Given the description of an element on the screen output the (x, y) to click on. 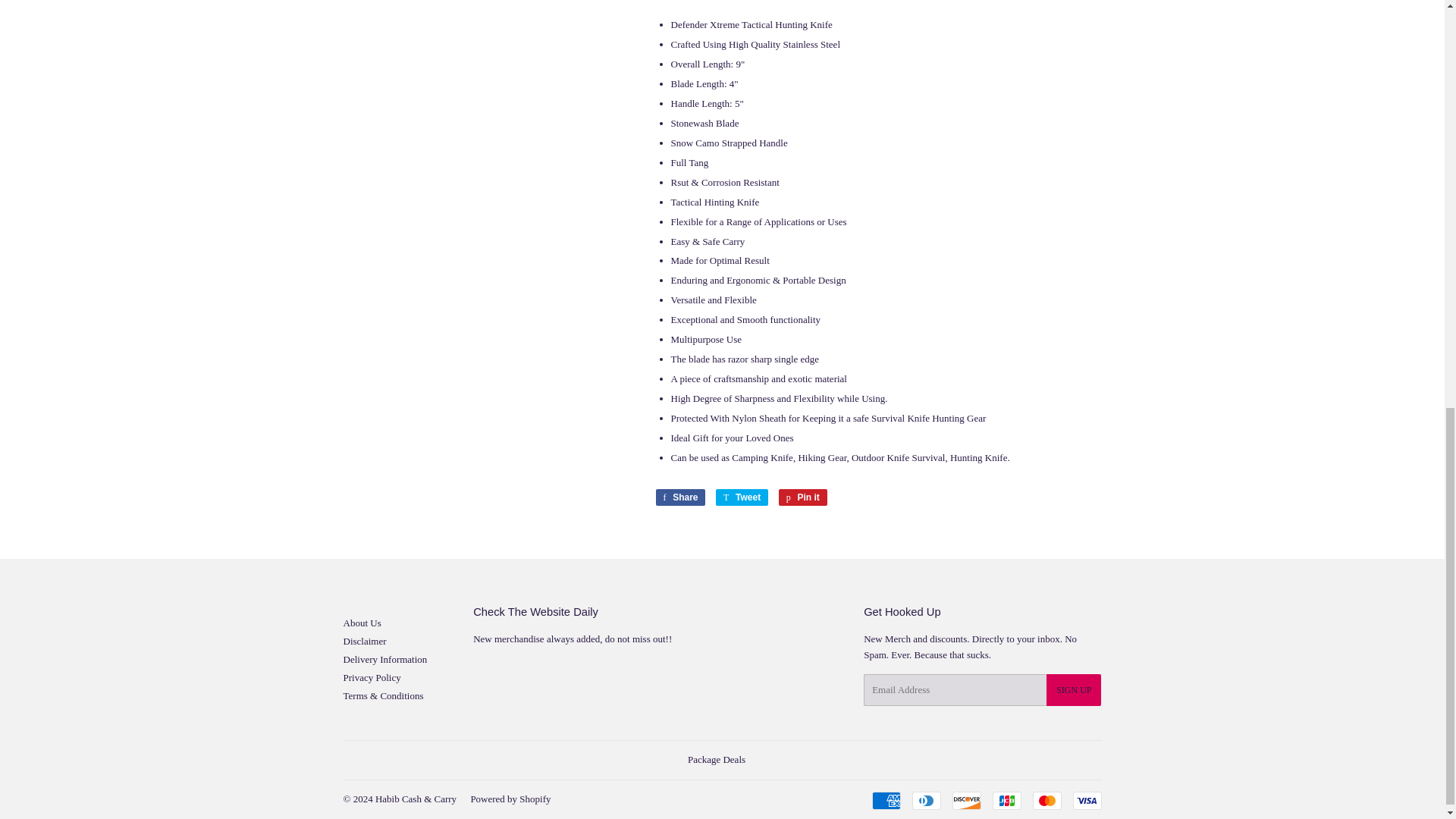
Share on Facebook (742, 497)
Disclaimer (679, 497)
SIGN UP (363, 641)
About Us (1073, 689)
Package Deals (361, 622)
Diners Club (716, 758)
Tweet on Twitter (679, 497)
